Given the description of an element on the screen output the (x, y) to click on. 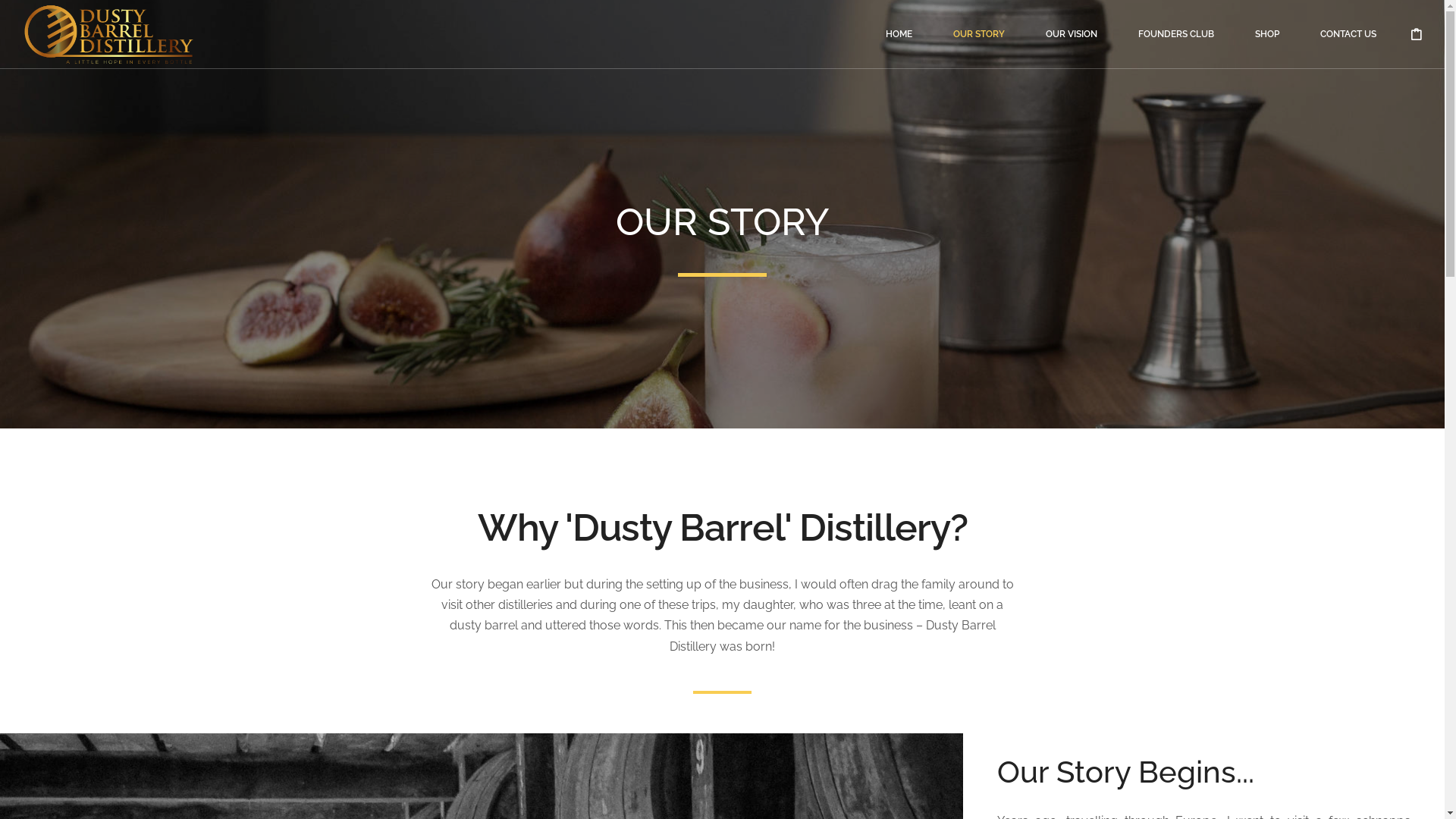
OUR VISION Element type: text (1071, 45)
SHOP Element type: text (1267, 45)
OUR STORY Element type: text (978, 45)
CONTACT US Element type: text (1348, 45)
HOME Element type: text (898, 45)
FOUNDERS CLUB Element type: text (1176, 45)
